Given the description of an element on the screen output the (x, y) to click on. 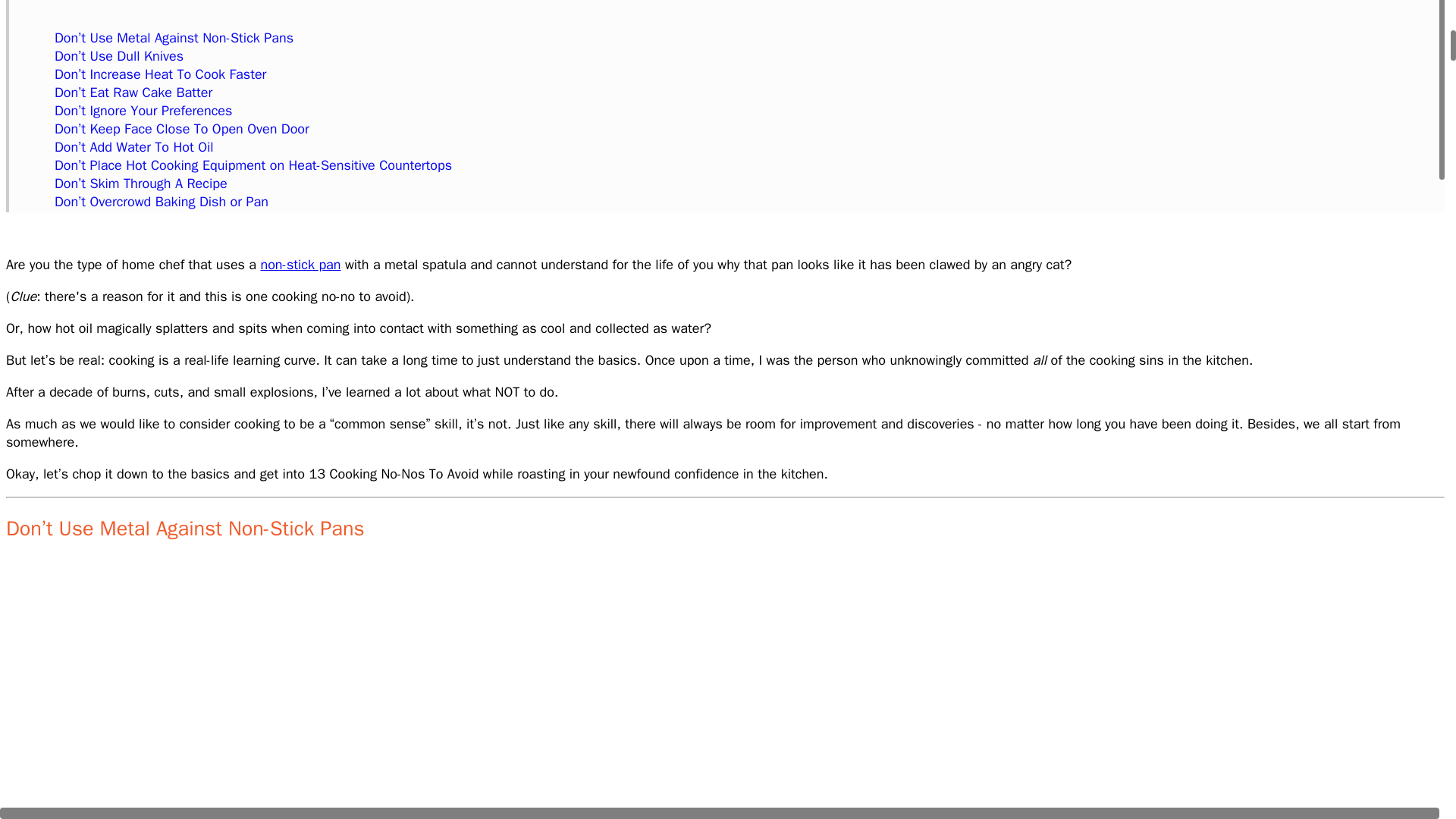
non-stick pan (300, 264)
